Given the description of an element on the screen output the (x, y) to click on. 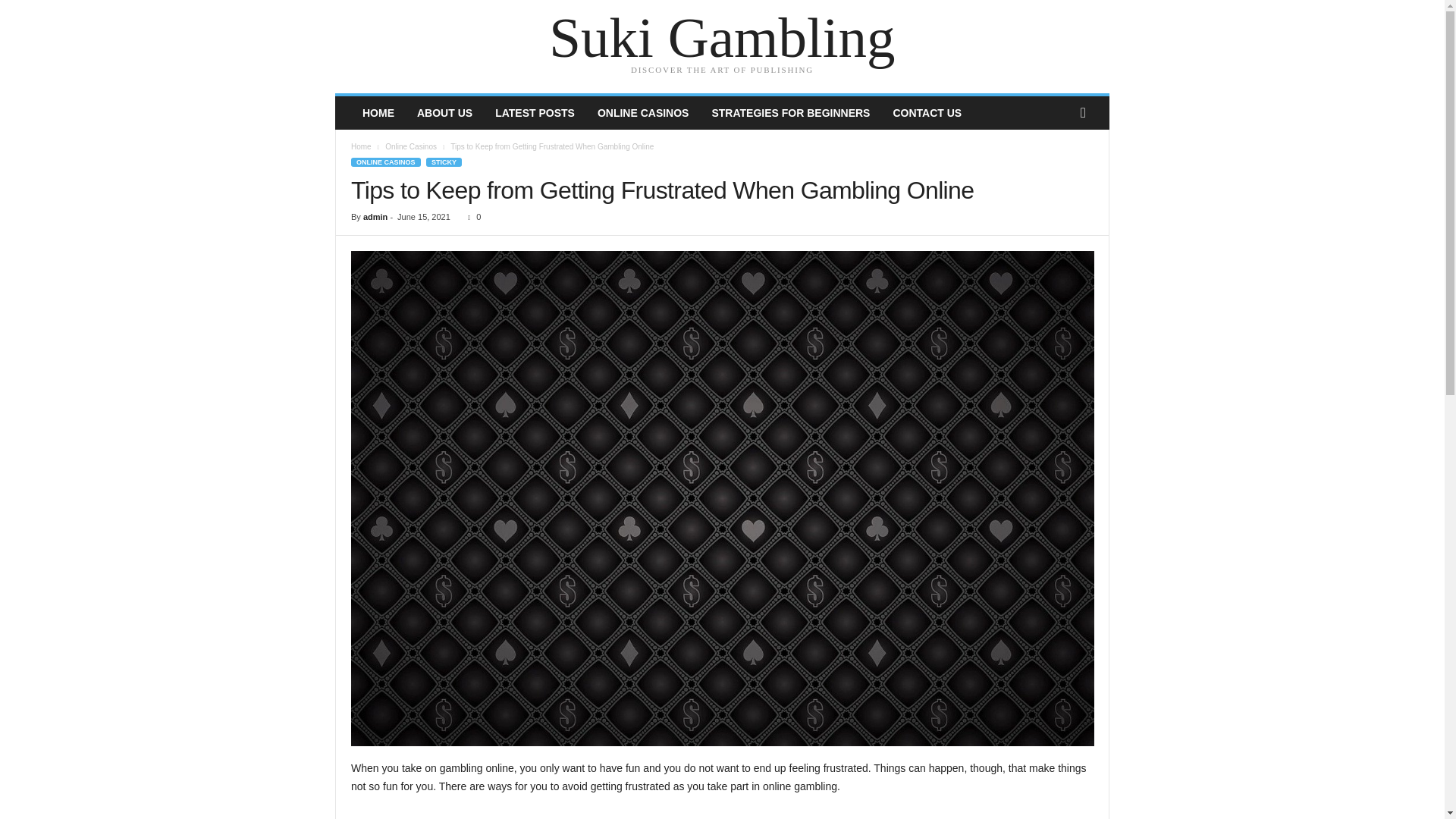
Suki Gambling (721, 38)
View all posts in Online Casinos (410, 146)
admin (374, 216)
HOME (378, 112)
ABOUT US (444, 112)
STRATEGIES FOR BEGINNERS (790, 112)
Online Casinos (410, 146)
0 (470, 216)
ONLINE CASINOS (643, 112)
STICKY (443, 162)
Home (360, 146)
CONTACT US (926, 112)
LATEST POSTS (534, 112)
ONLINE CASINOS (385, 162)
